Given the description of an element on the screen output the (x, y) to click on. 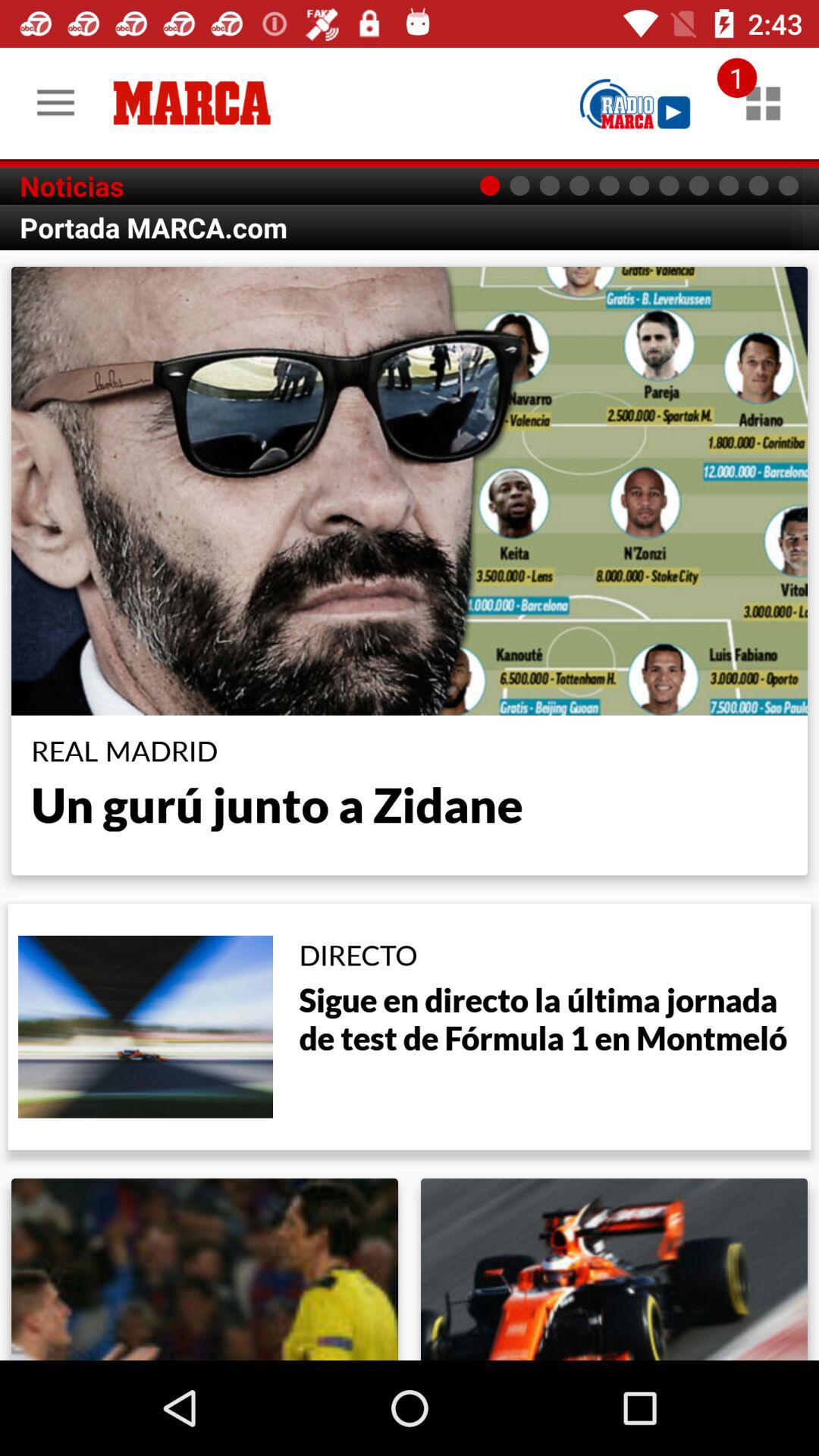
open the icon to the right of the noticias item (635, 103)
